Given the description of an element on the screen output the (x, y) to click on. 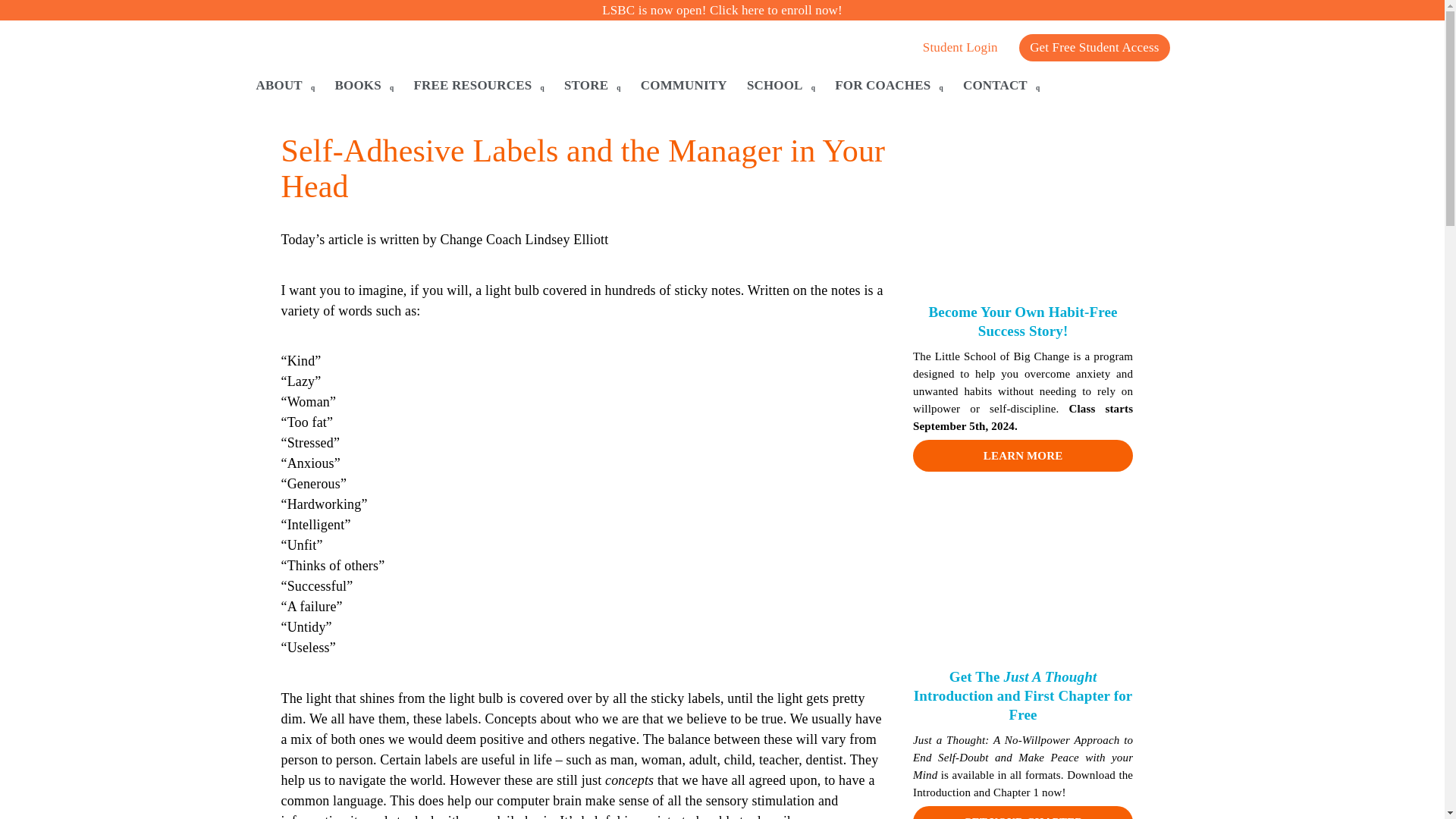
Get Free Student Access (1094, 47)
FREE RESOURCES (478, 85)
LSBC is now open! Click here to enroll now! (722, 10)
FOR COACHES (888, 85)
STORE (592, 85)
BOOKS (363, 85)
COMMUNITY (684, 85)
Student Login (960, 57)
ABOUT (286, 85)
SCHOOL (780, 85)
